Given the description of an element on the screen output the (x, y) to click on. 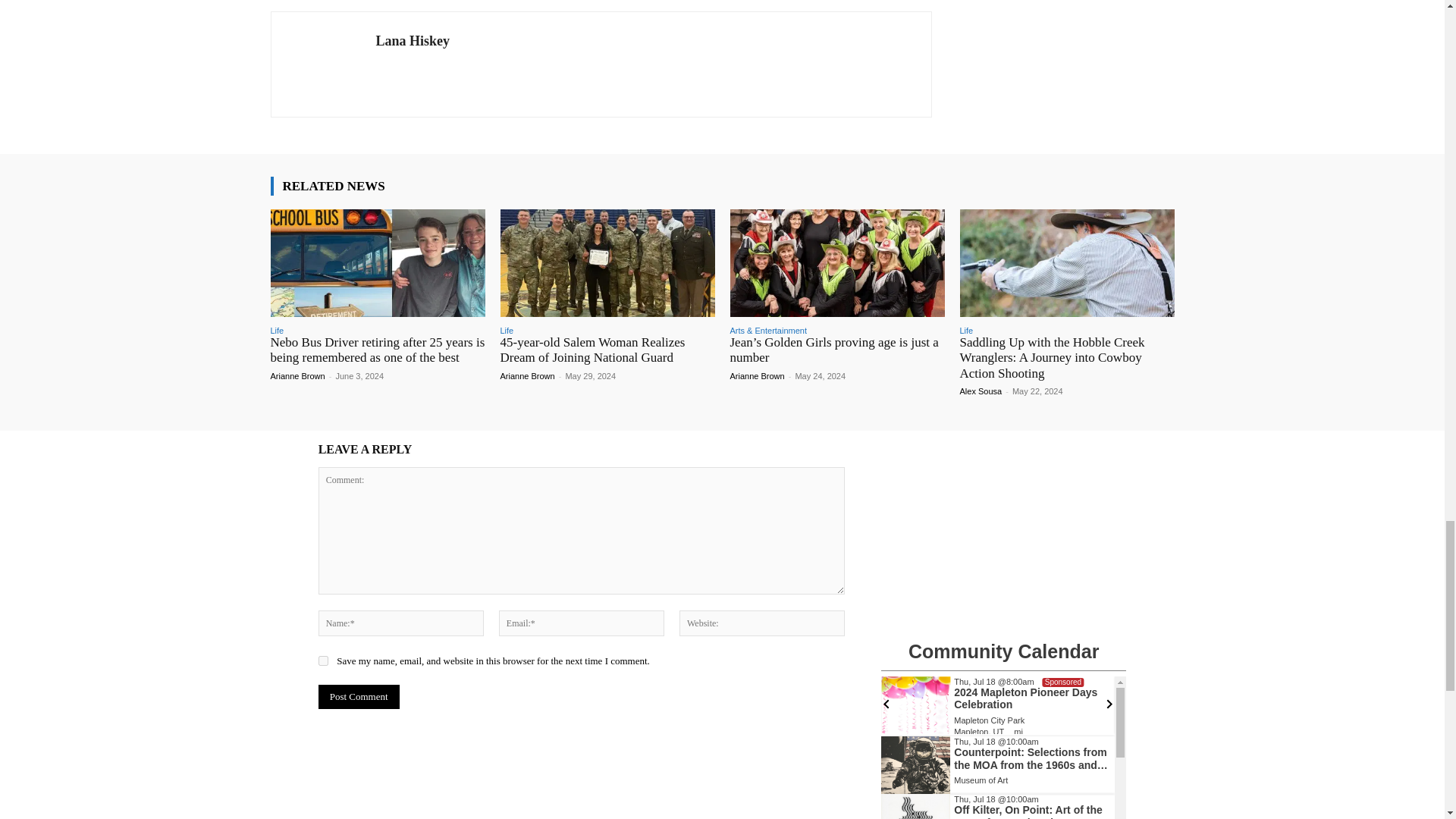
yes (323, 660)
Post Comment (358, 696)
